Given the description of an element on the screen output the (x, y) to click on. 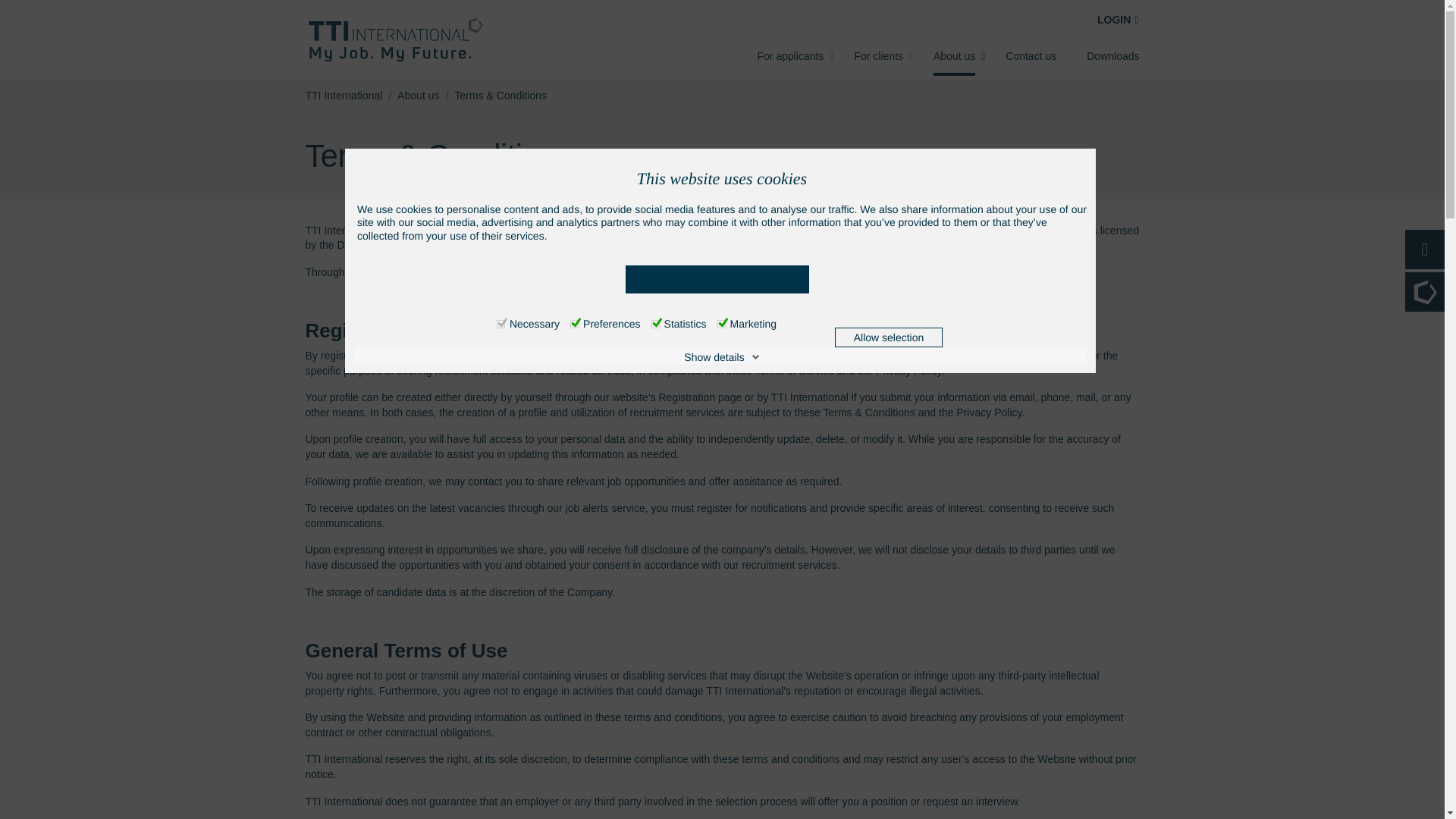
Allow all cookies (717, 279)
Allow selection (888, 337)
LOGIN (1117, 19)
Show details (721, 357)
For applicants (790, 56)
